Given the description of an element on the screen output the (x, y) to click on. 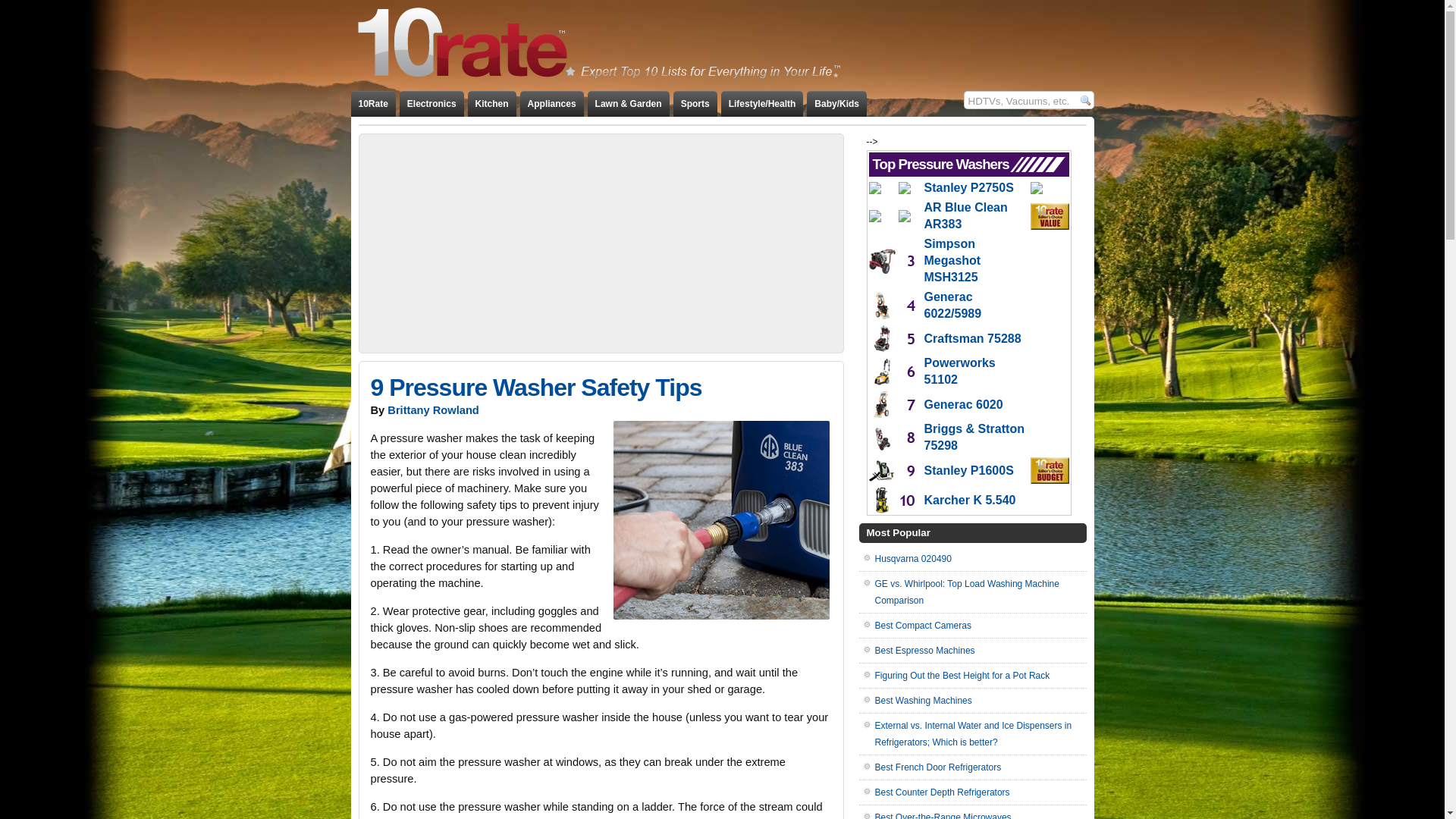
9 Pressure Washer Safety Tips Element type: text (535, 387)
Kitchen Element type: text (491, 103)
Stanley P2750S Element type: text (968, 187)
Baby/Kids Element type: text (836, 103)
Generac 6022/5989 Element type: text (952, 305)
GE vs. Whirlpool: Top Load Washing Machine Comparison Element type: text (967, 591)
Karcher K 5.540 Element type: text (969, 499)
Craftsman 75288 Element type: text (971, 338)
Sports Element type: text (695, 103)
AR Blue Clean AR383 Element type: text (965, 215)
Appliances Element type: text (551, 103)
Brittany Rowland Element type: text (433, 410)
Best French Door Refrigerators Element type: text (938, 767)
Lifestyle/Health Element type: text (762, 103)
Simpson Megashot MSH3125 Element type: text (951, 260)
Best Washing Machines Element type: text (923, 700)
Advertisement Element type: hover (601, 243)
Husqvarna 020490 Element type: text (913, 558)
Briggs & Stratton 75298 Element type: text (973, 436)
Best Compact Cameras Element type: text (923, 625)
Lawn & Garden Element type: text (628, 103)
Electronics Element type: text (431, 103)
Powerworks 51102 Element type: text (958, 370)
Stanley P1600S Element type: text (968, 470)
10Rate Element type: text (372, 103)
Best Counter Depth Refrigerators Element type: text (942, 792)
Figuring Out the Best Height for a Pot Rack Element type: text (962, 675)
Generac 6020 Element type: text (962, 404)
Best Espresso Machines Element type: text (925, 650)
